Given the description of an element on the screen output the (x, y) to click on. 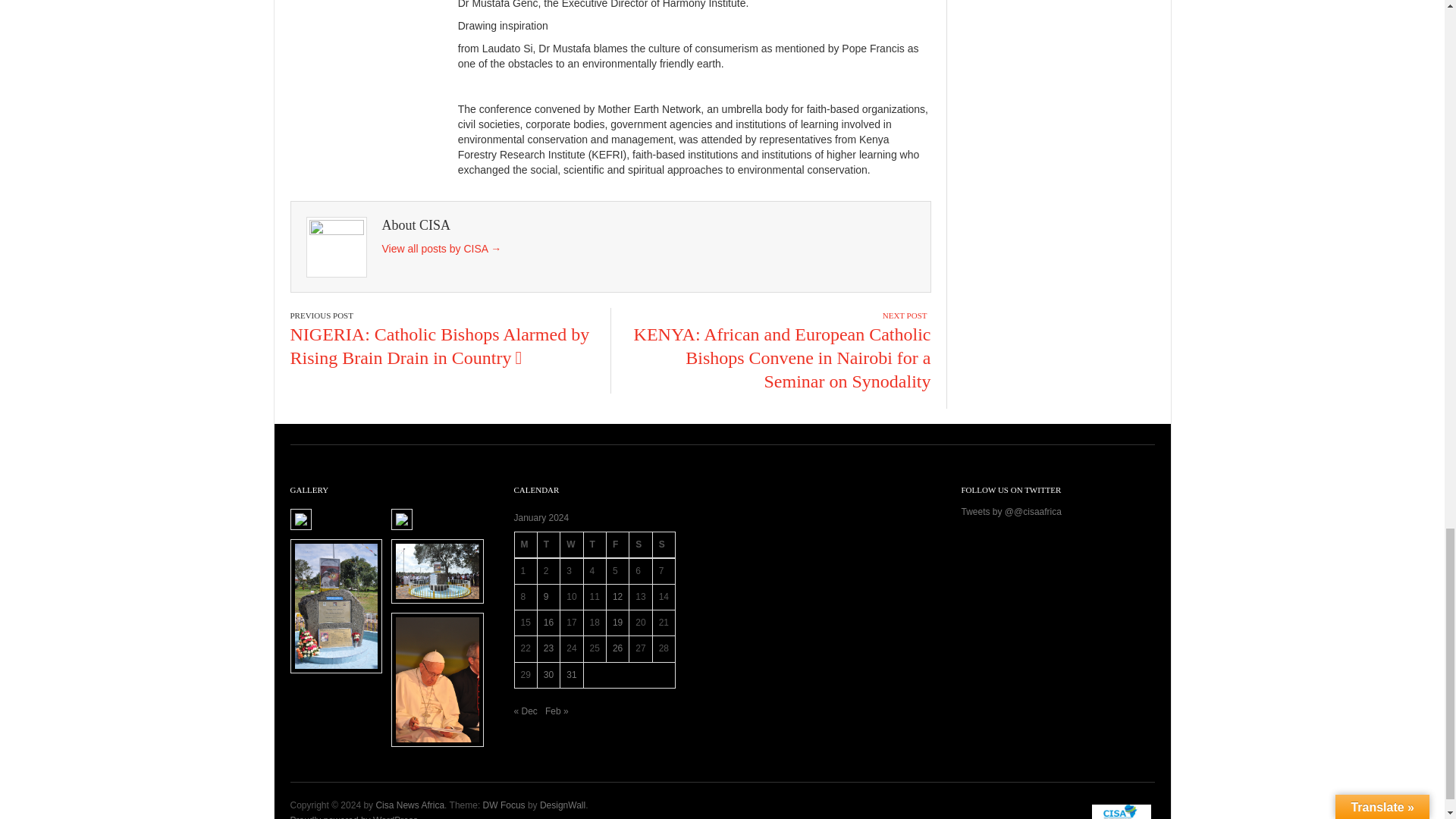
WordPress News Theme (504, 805)
